Given the description of an element on the screen output the (x, y) to click on. 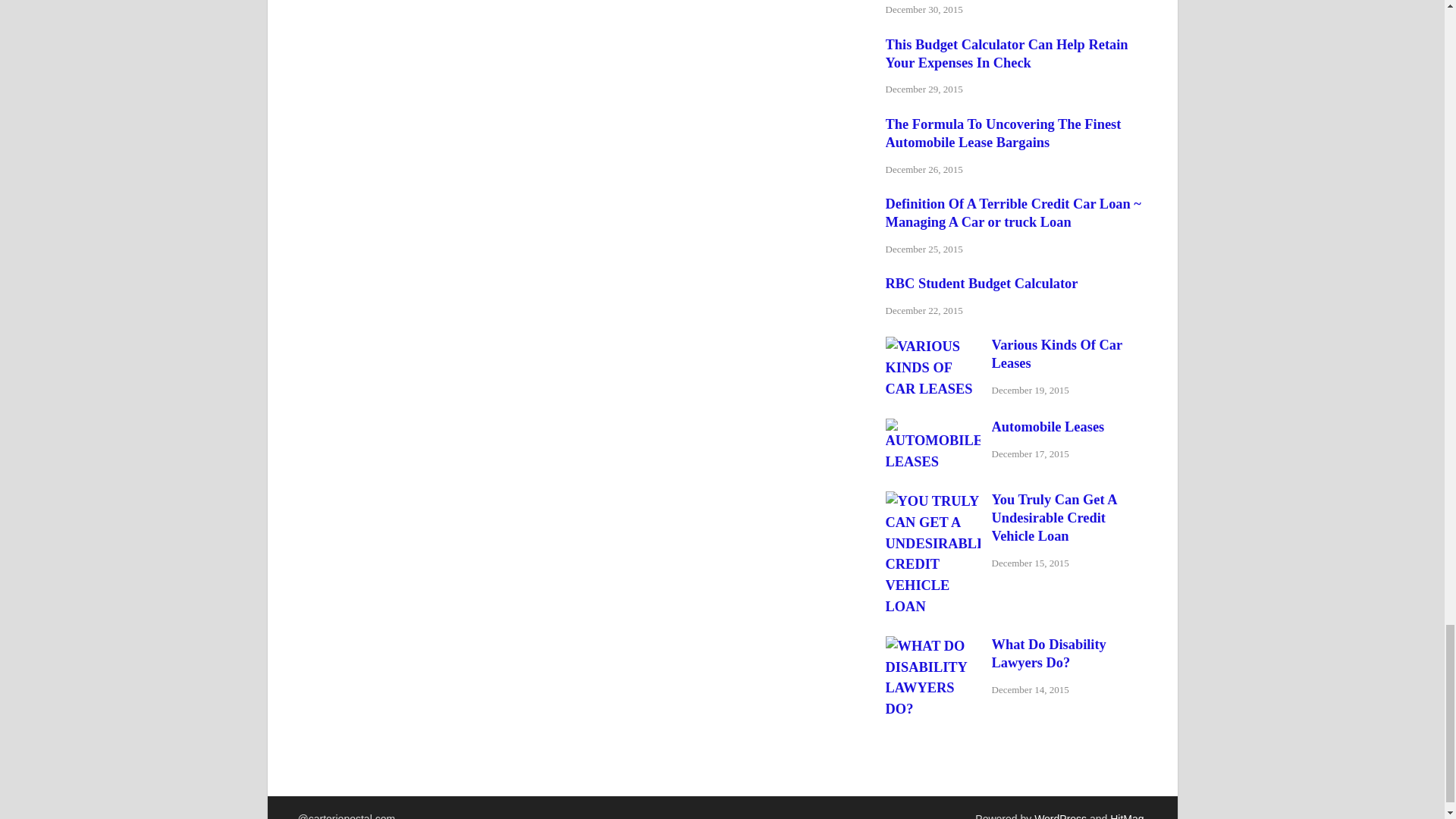
Automobile Leases (932, 427)
Various Kinds Of Car Leases (932, 346)
You Truly Can Get A Undesirable Credit Vehicle Loan (932, 500)
What Do Disability Lawyers Do? (932, 645)
